Given the description of an element on the screen output the (x, y) to click on. 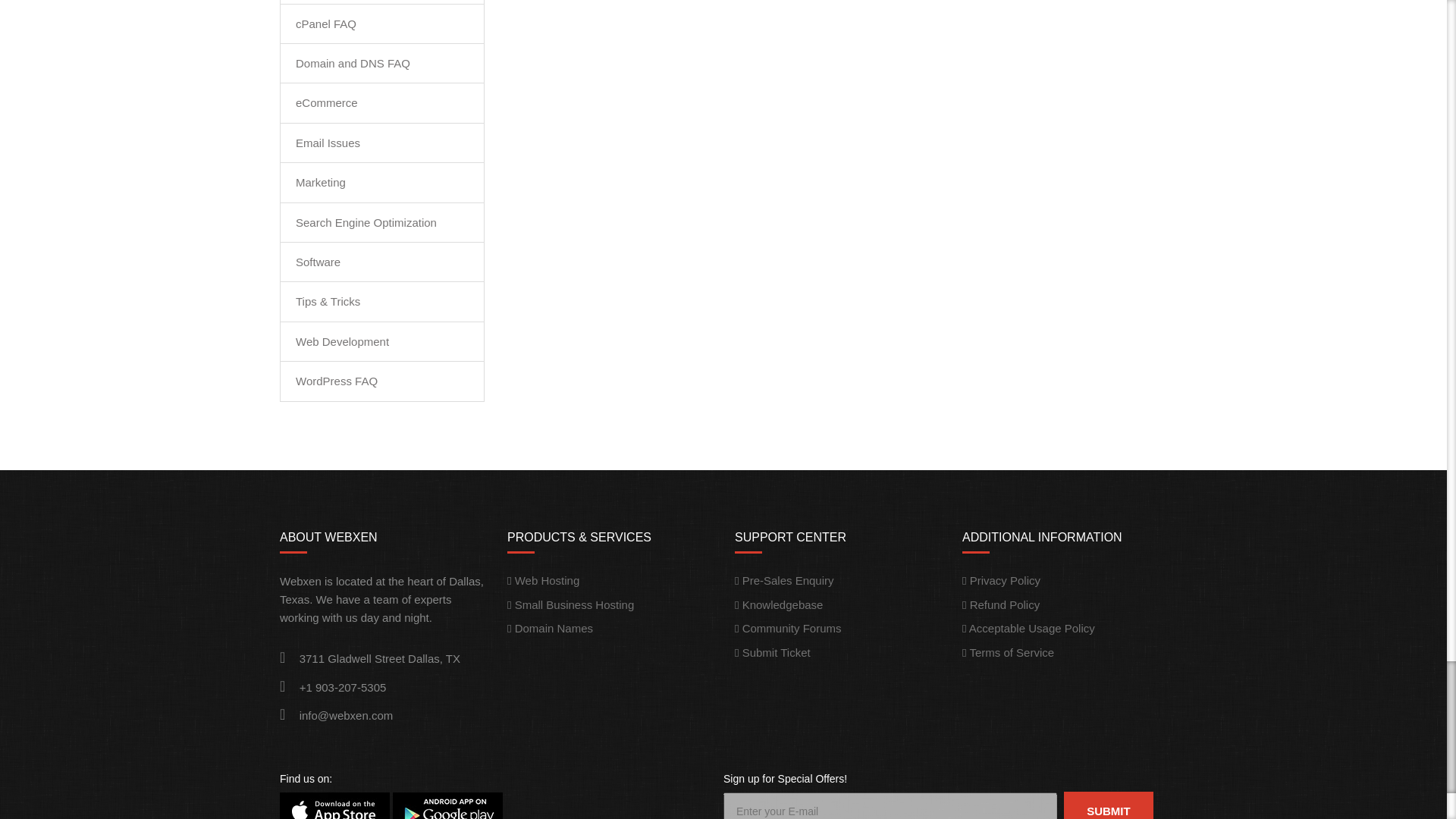
Domain and DNS FAQ (352, 62)
eCommerce (326, 102)
Submit (1108, 805)
Marketing (320, 182)
Search Engine Optimization (365, 222)
cPanel FAQ (325, 22)
Software (317, 261)
Email Issues (327, 142)
